Given the description of an element on the screen output the (x, y) to click on. 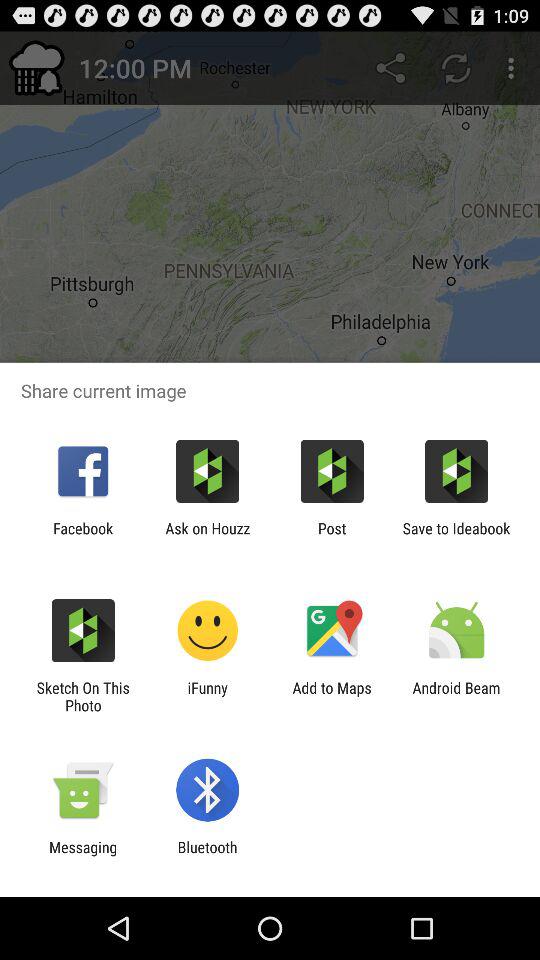
launch the item next to sketch on this app (207, 696)
